Given the description of an element on the screen output the (x, y) to click on. 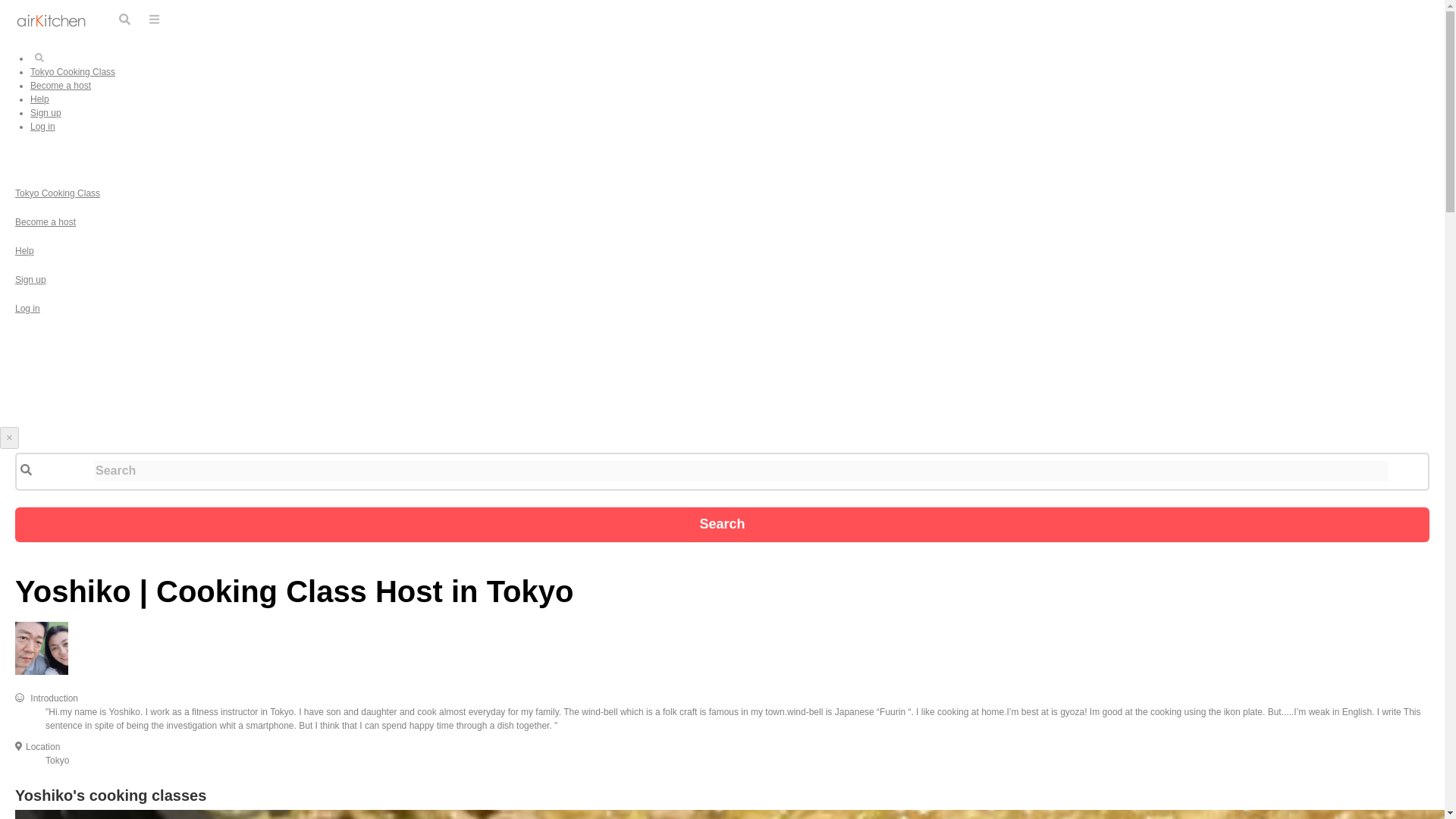
Tokyo Cooking Class (57, 193)
Help (23, 250)
Sign up (30, 279)
Help (39, 99)
Tokyo Cooking Class (72, 71)
Log in (27, 308)
Become a host (60, 85)
Search (721, 524)
Become a host (44, 222)
Sign up (45, 112)
Log in (42, 126)
